Given the description of an element on the screen output the (x, y) to click on. 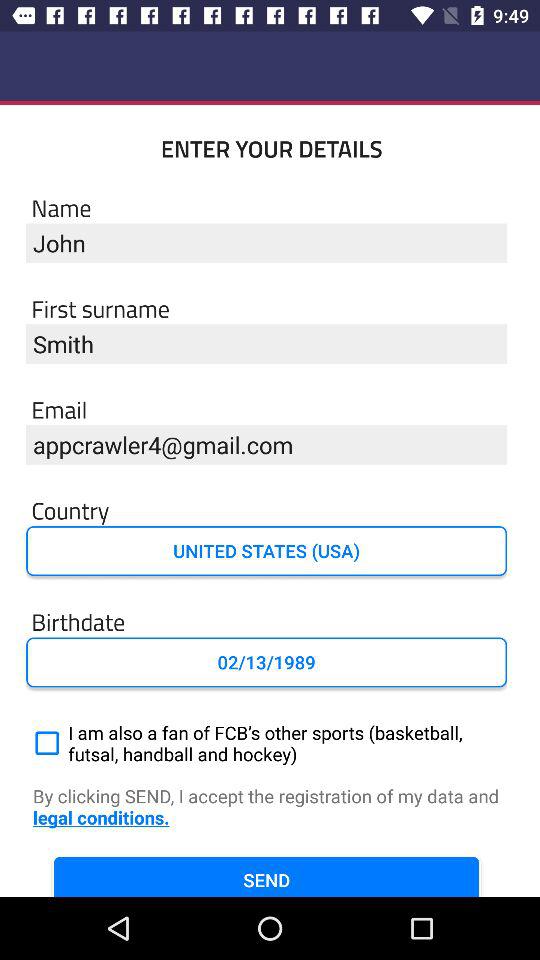
choose appcrawler4@gmail.com (266, 444)
